Given the description of an element on the screen output the (x, y) to click on. 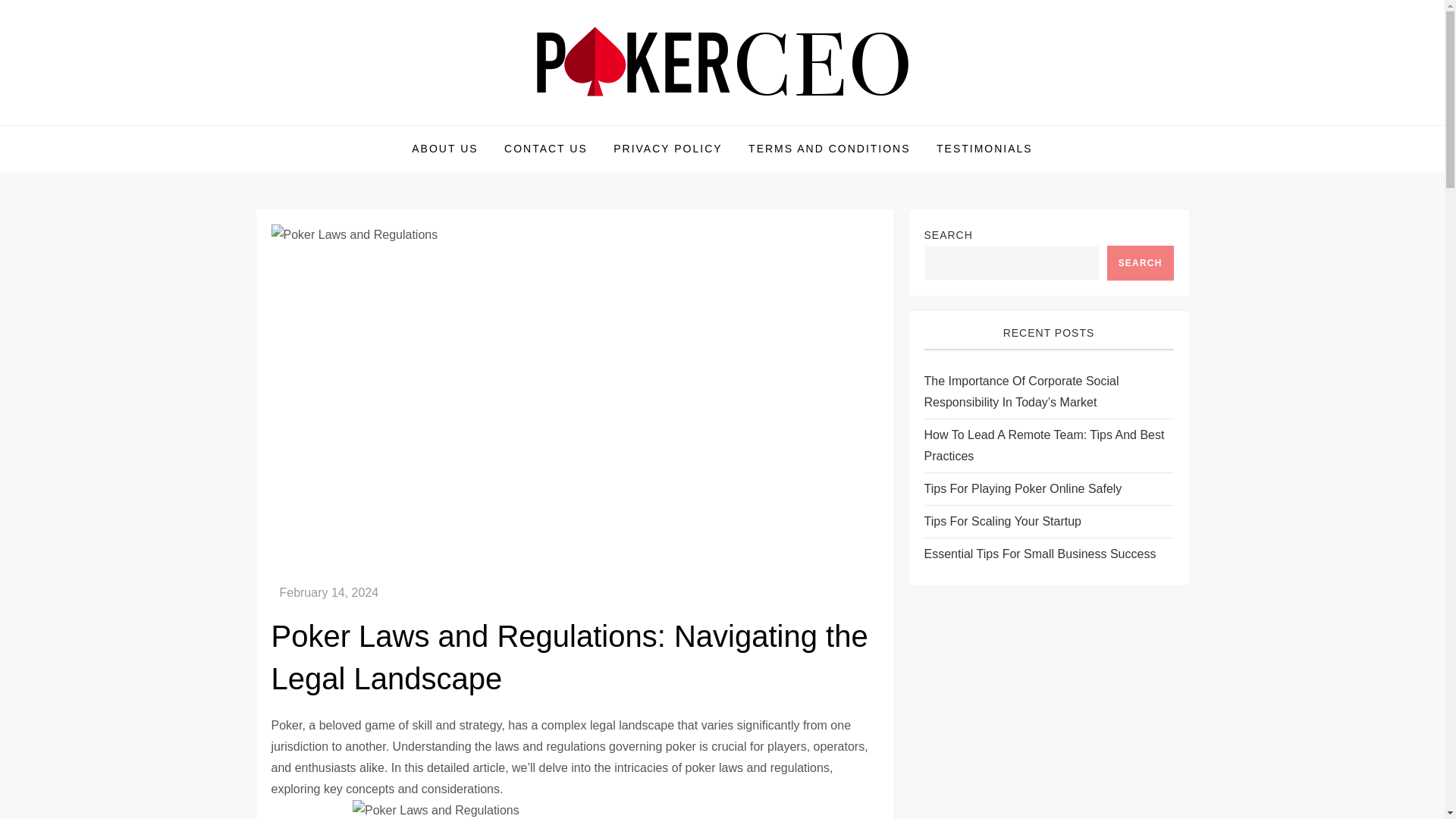
SEARCH (1139, 262)
ABOUT US (444, 148)
Tips For Playing Poker Online Safely (1022, 488)
CONTACT US (545, 148)
Essential Tips For Small Business Success (1039, 554)
pokerceo.io (334, 123)
February 14, 2024 (328, 591)
Tips For Scaling Your Startup (1002, 521)
TERMS AND CONDITIONS (828, 148)
PRIVACY POLICY (667, 148)
How To Lead A Remote Team: Tips And Best Practices (1048, 445)
TESTIMONIALS (983, 148)
